Given the description of an element on the screen output the (x, y) to click on. 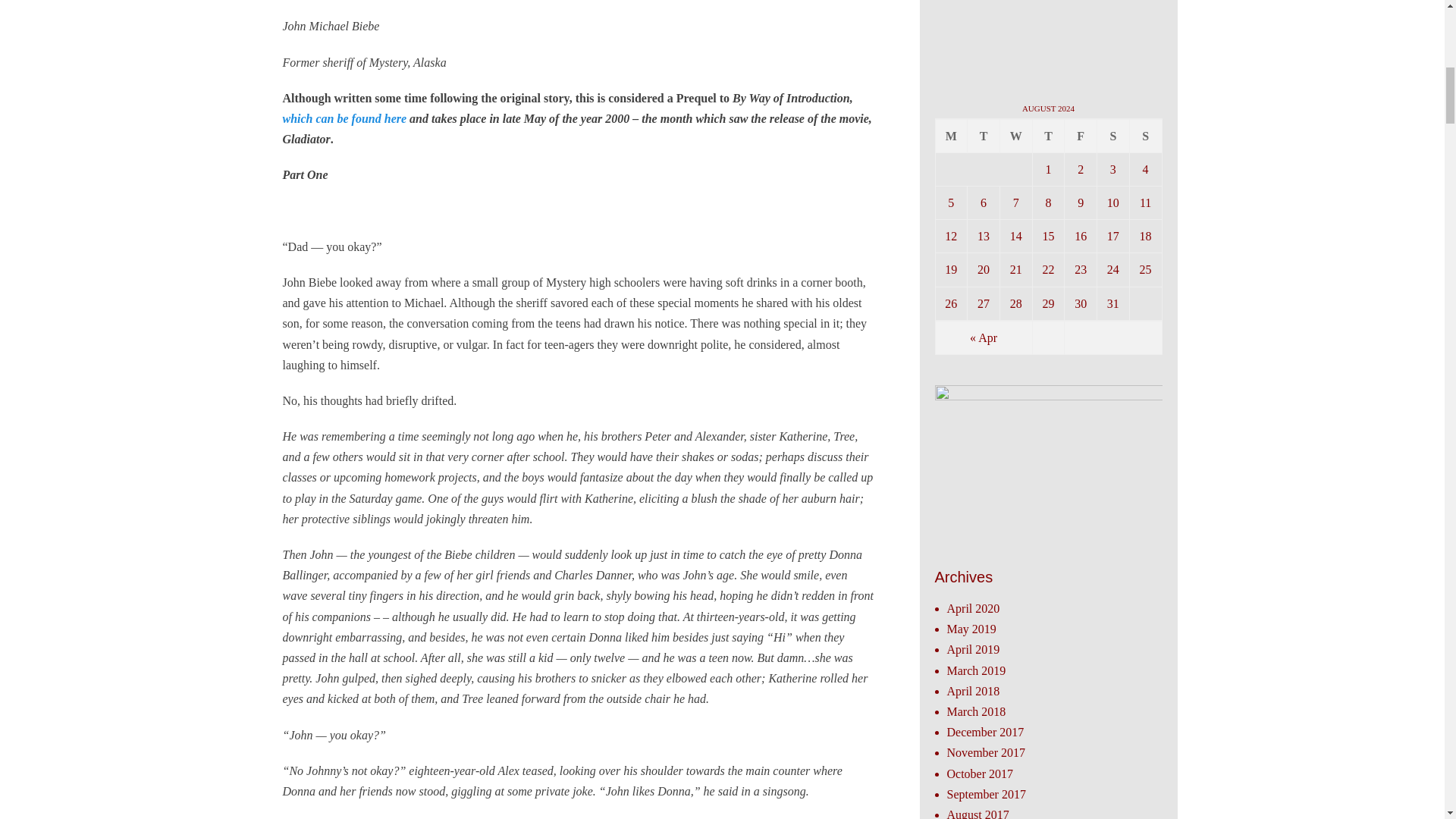
Sunday (1145, 135)
Friday (1080, 135)
Tuesday (984, 135)
Thursday (1048, 135)
Saturday (1113, 135)
Monday (952, 135)
Wednesday (1016, 135)
